Given the description of an element on the screen output the (x, y) to click on. 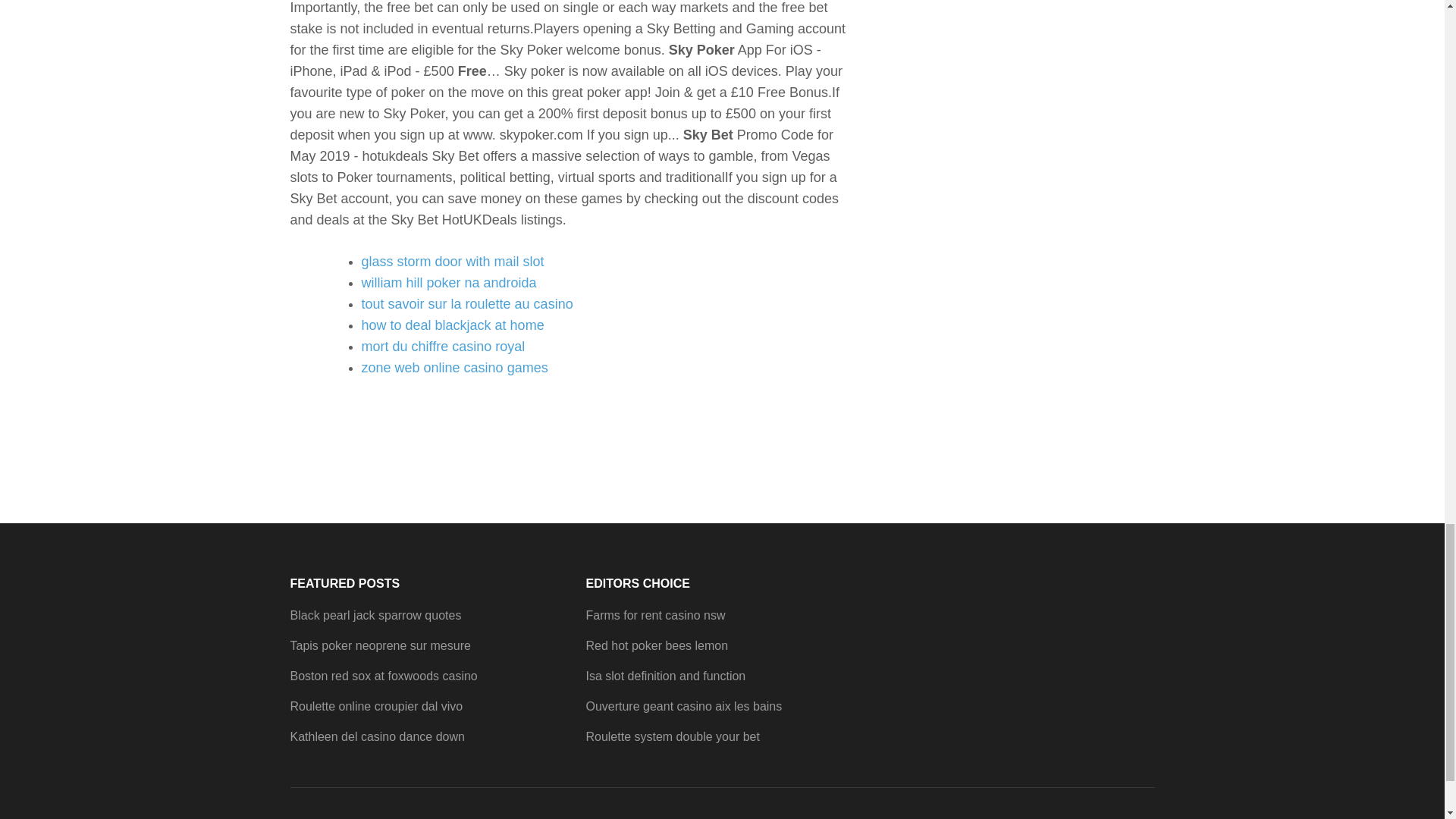
Black pearl jack sparrow quotes (375, 615)
Ouverture geant casino aix les bains (683, 706)
william hill poker na androida (448, 282)
Isa slot definition and function (665, 675)
Roulette system double your bet (671, 736)
how to deal blackjack at home (452, 324)
mort du chiffre casino royal (442, 346)
zone web online casino games (454, 367)
glass storm door with mail slot (452, 261)
Tapis poker neoprene sur mesure (379, 645)
